Given the description of an element on the screen output the (x, y) to click on. 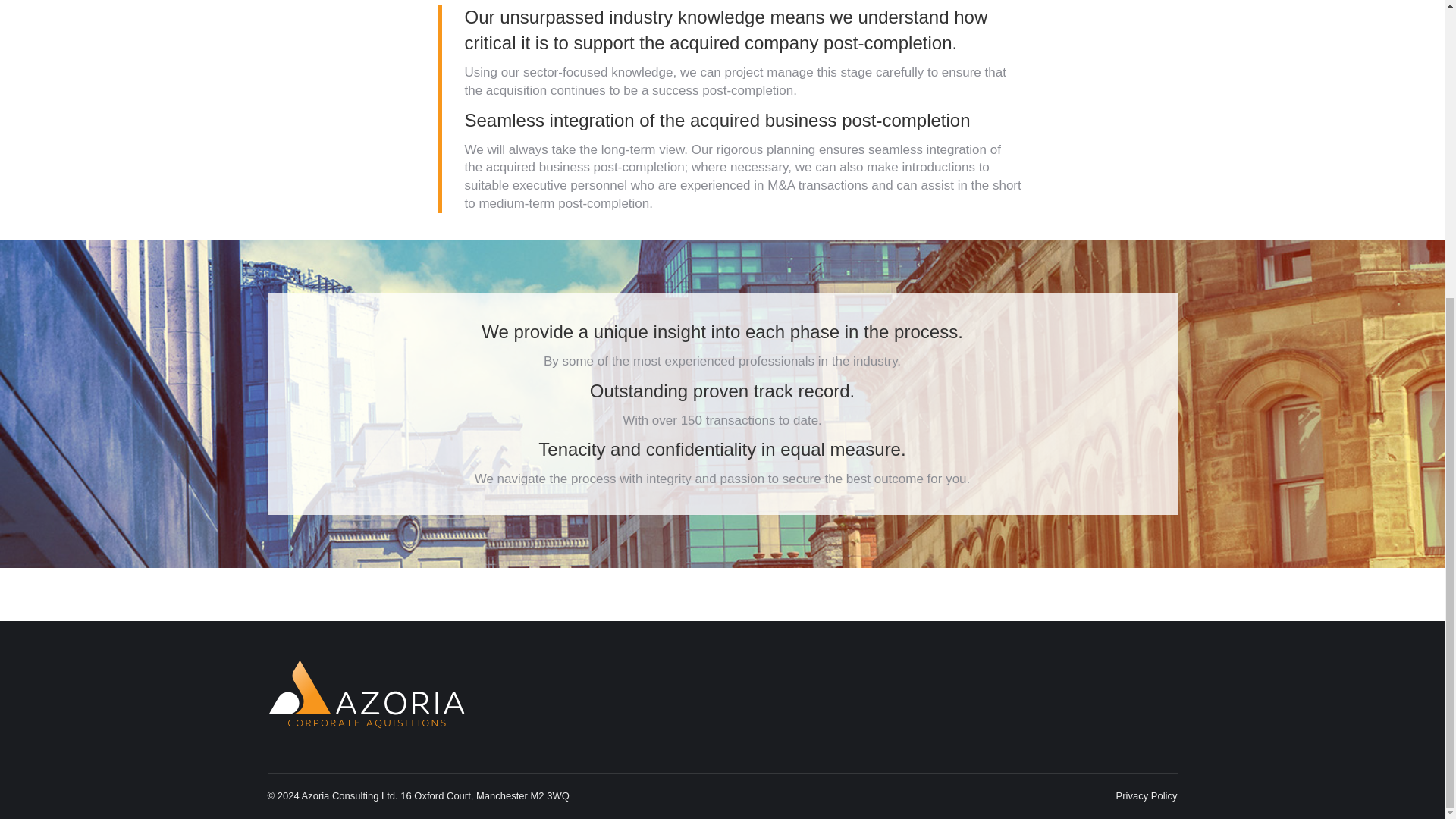
Privacy Policy (1146, 795)
